Given the description of an element on the screen output the (x, y) to click on. 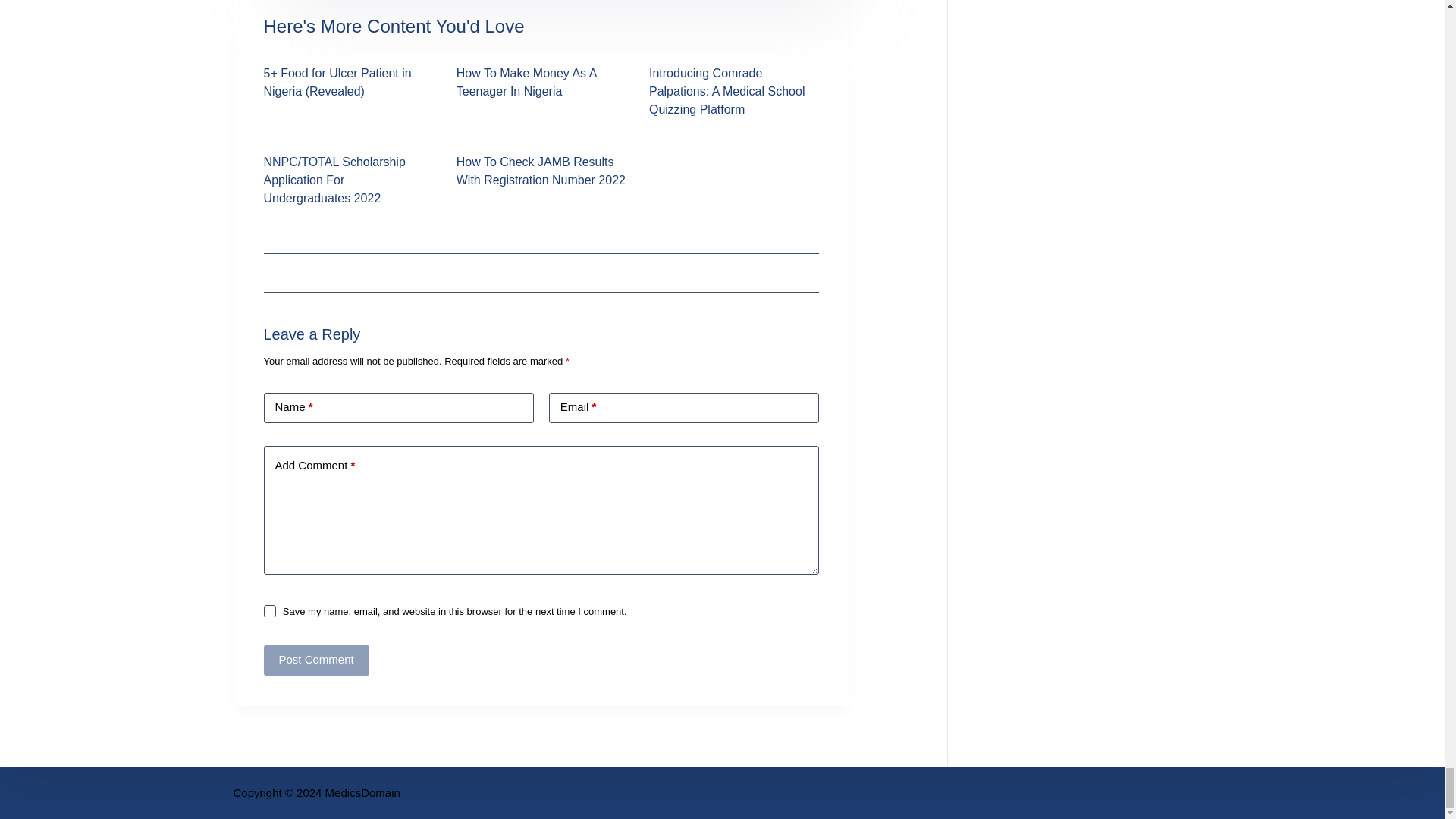
yes (269, 611)
